Given the description of an element on the screen output the (x, y) to click on. 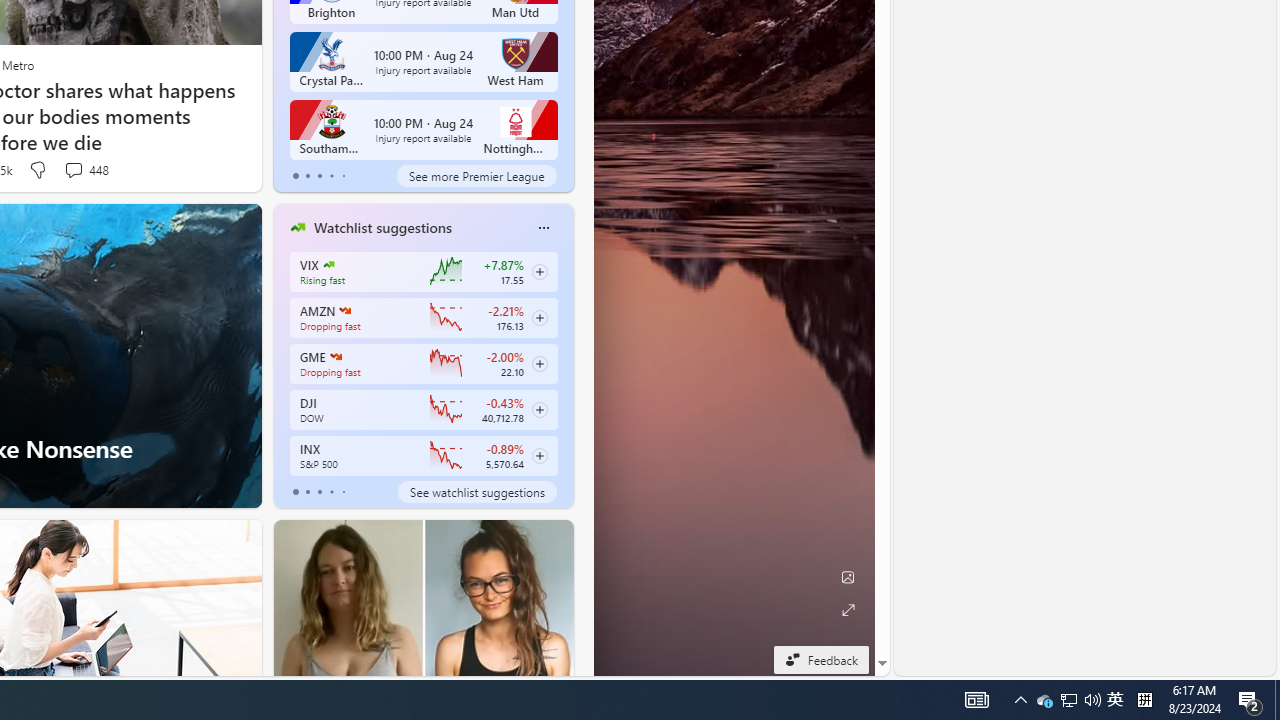
Edit Background (847, 577)
View comments 448 Comment (73, 169)
See watchlist suggestions (476, 491)
AMAZON.COM, INC. (343, 310)
tab-3 (331, 491)
tab-2 (319, 491)
CBOE Market Volatility Index (328, 264)
Watchlist suggestions (382, 227)
